Given the description of an element on the screen output the (x, y) to click on. 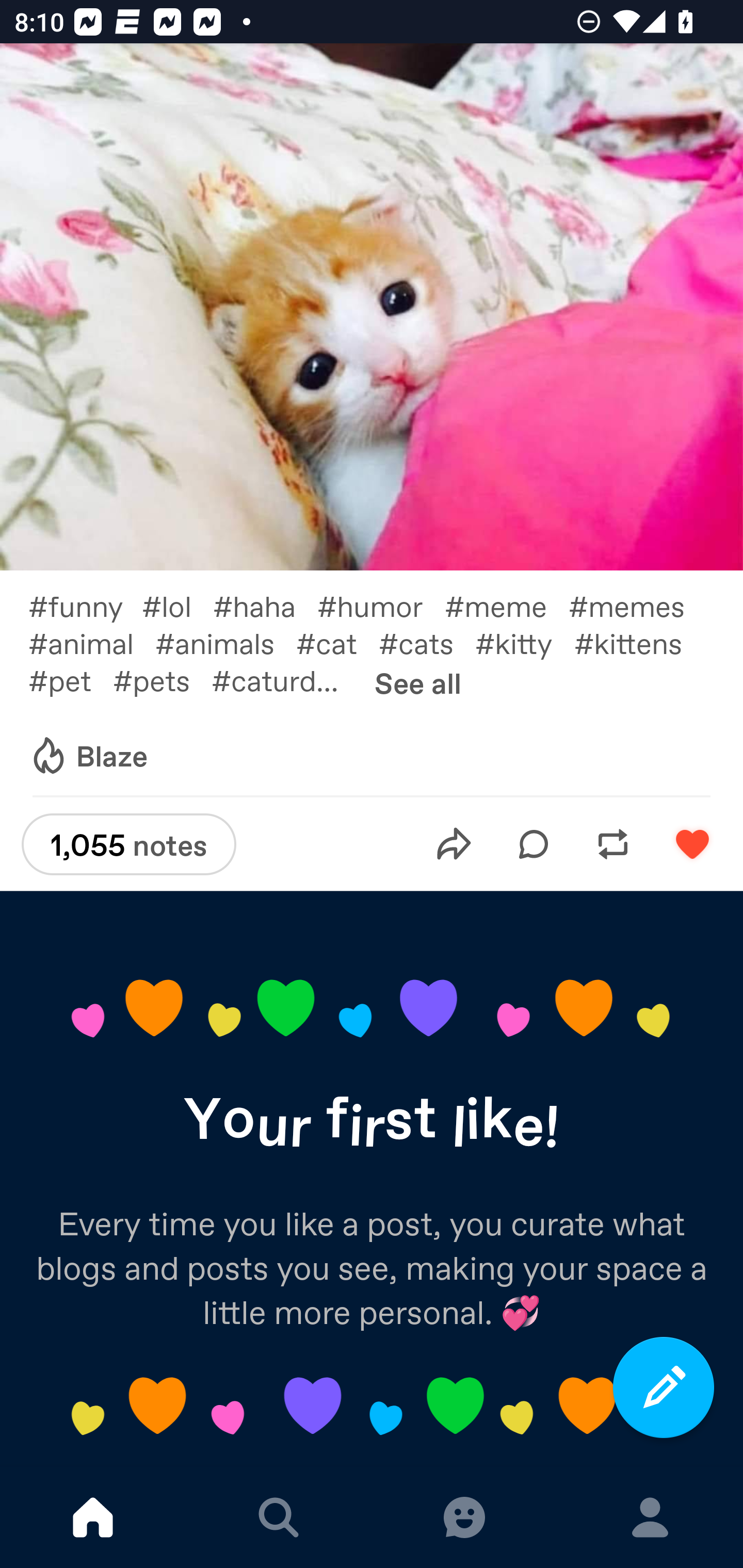
#funny (84, 605)
#lol (177, 605)
#haha (265, 605)
#humor (381, 605)
#meme (506, 605)
#memes (637, 605)
#animal (91, 642)
#animals (225, 642)
#cat (337, 642)
#cats (426, 642)
#kitty (524, 642)
#kittens (638, 642)
#pet (70, 679)
#pets (161, 679)
#caturd… (285, 679)
See all (417, 682)
Blaze Blaze Blaze (88, 756)
Share post to message (454, 844)
Reply (533, 844)
Reblog (612, 844)
Like (691, 844)
1,055 notes (128, 843)
Compose a new post (663, 1387)
DASHBOARD (92, 1517)
EXPLORE (278, 1517)
MESSAGES (464, 1517)
ACCOUNT (650, 1517)
